Given the description of an element on the screen output the (x, y) to click on. 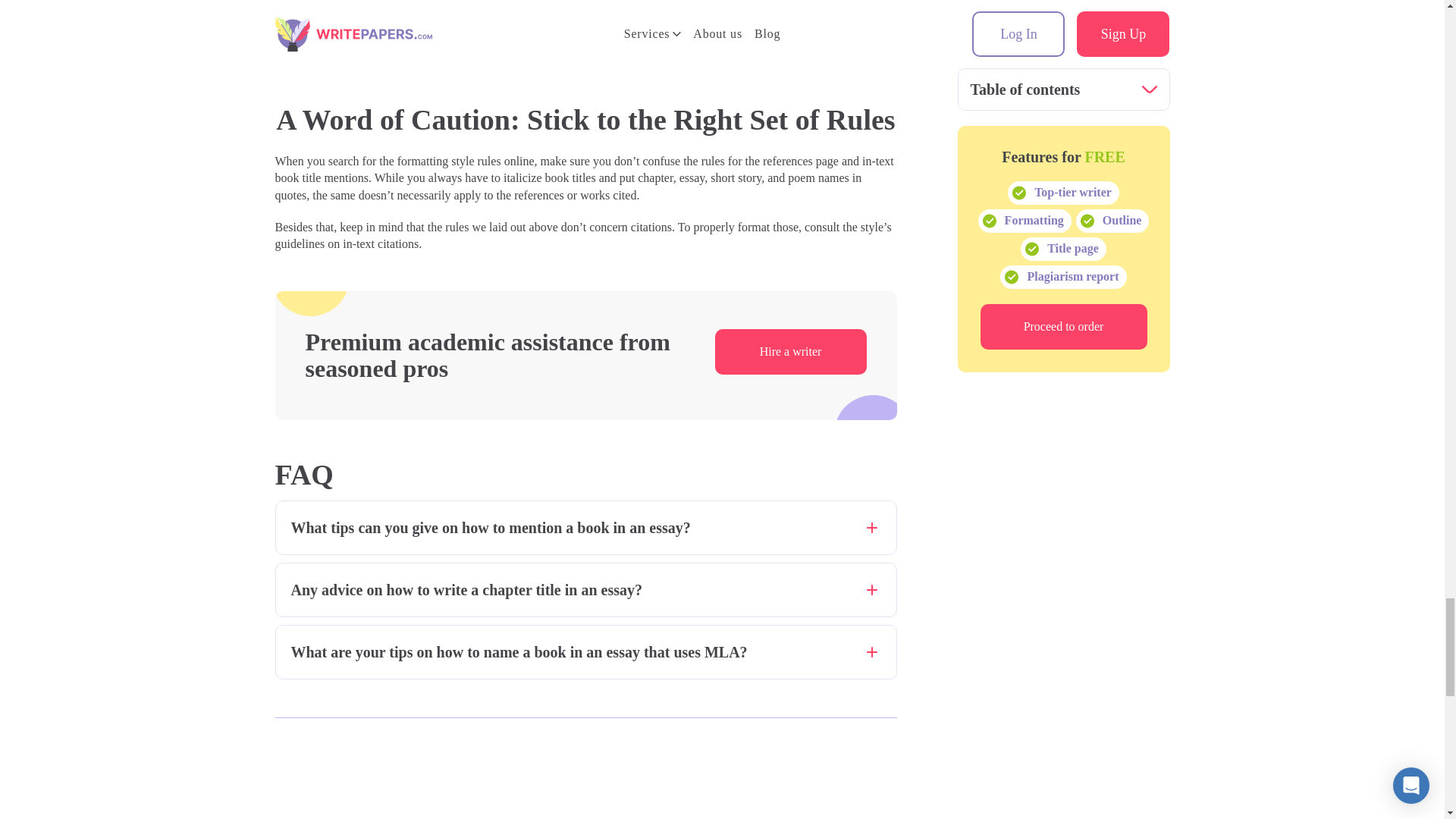
What tips can you give on how to mention a book in an essay? (585, 527)
Hire a writer (790, 351)
Any advice on how to write a chapter title in an essay? (585, 589)
